Given the description of an element on the screen output the (x, y) to click on. 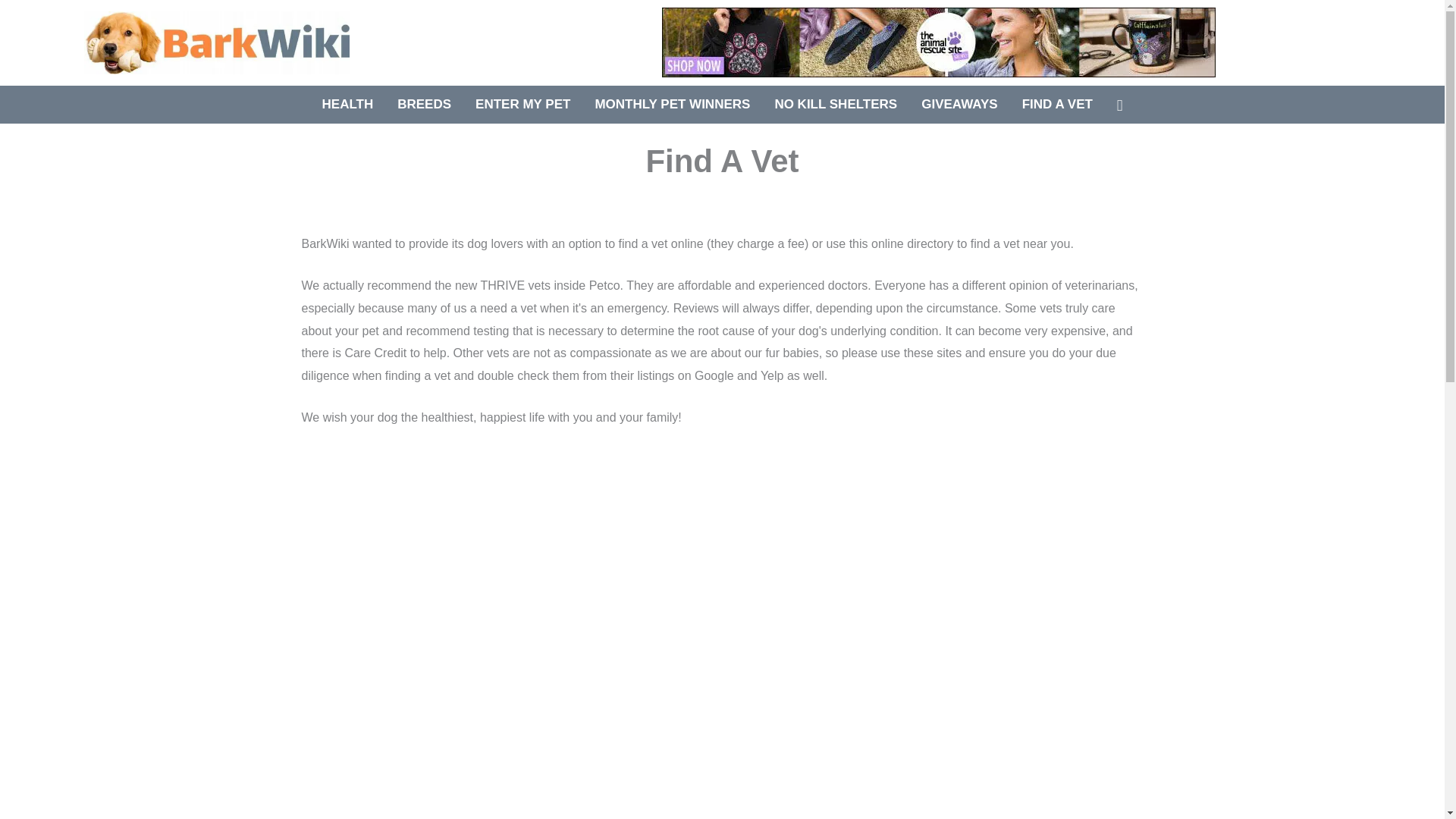
GIVEAWAYS (958, 103)
NO KILL SHELTERS (834, 103)
animal charities click to give free meals (938, 41)
MONTHLY PET WINNERS (671, 103)
FIND A VET (1057, 103)
ENTER MY PET (522, 103)
BREEDS (424, 103)
BarkWiki Logo (216, 42)
HEALTH (347, 103)
